Given the description of an element on the screen output the (x, y) to click on. 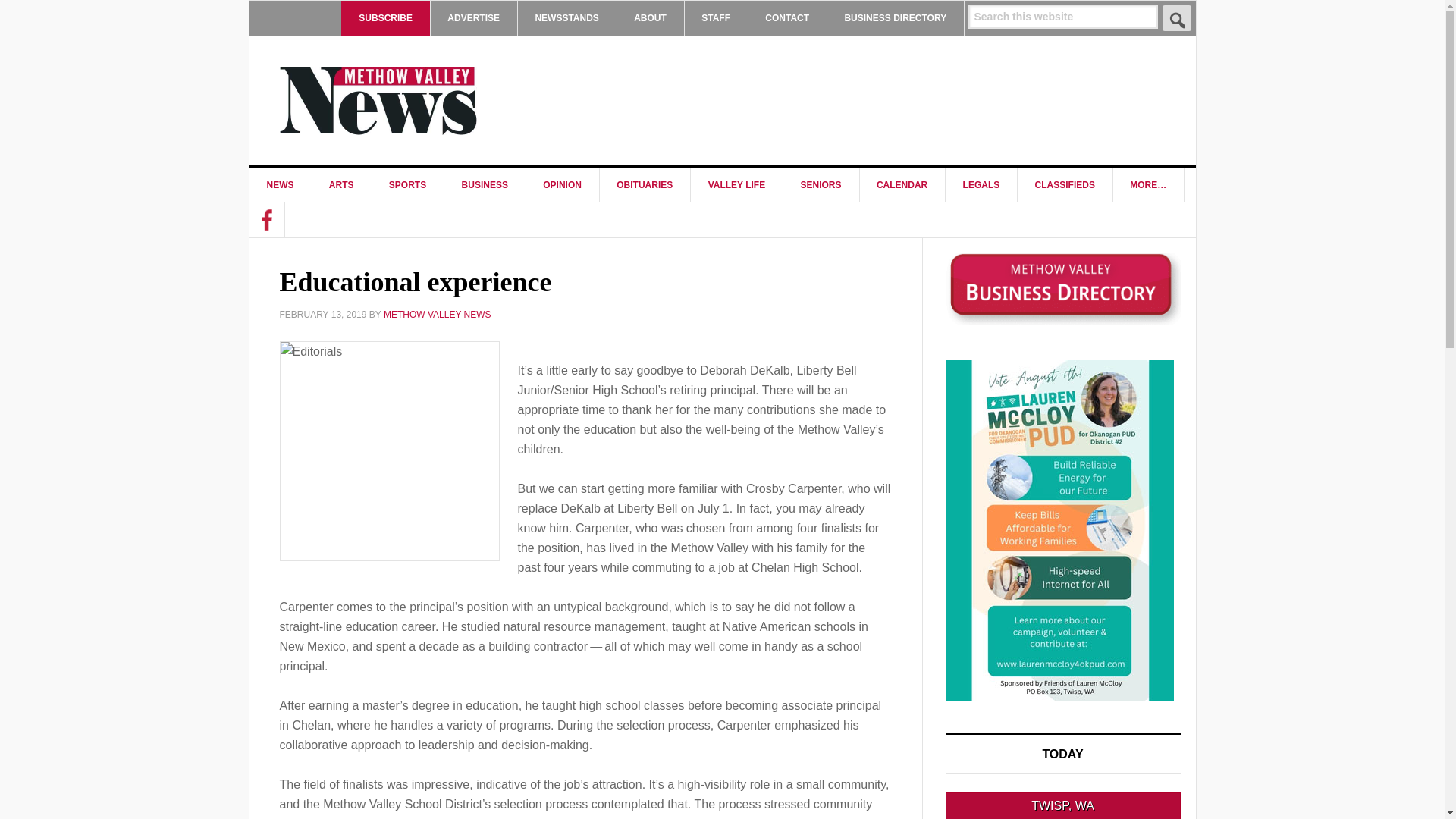
CONTACT (787, 18)
BUSINESS DIRECTORY (895, 18)
ADVERTISE (473, 18)
SUBSCRIBE (385, 18)
ARTS (341, 184)
NEWS (279, 184)
CALENDAR (901, 184)
OPINION (562, 184)
BUSINESS (484, 184)
SPORTS (407, 184)
